Given the description of an element on the screen output the (x, y) to click on. 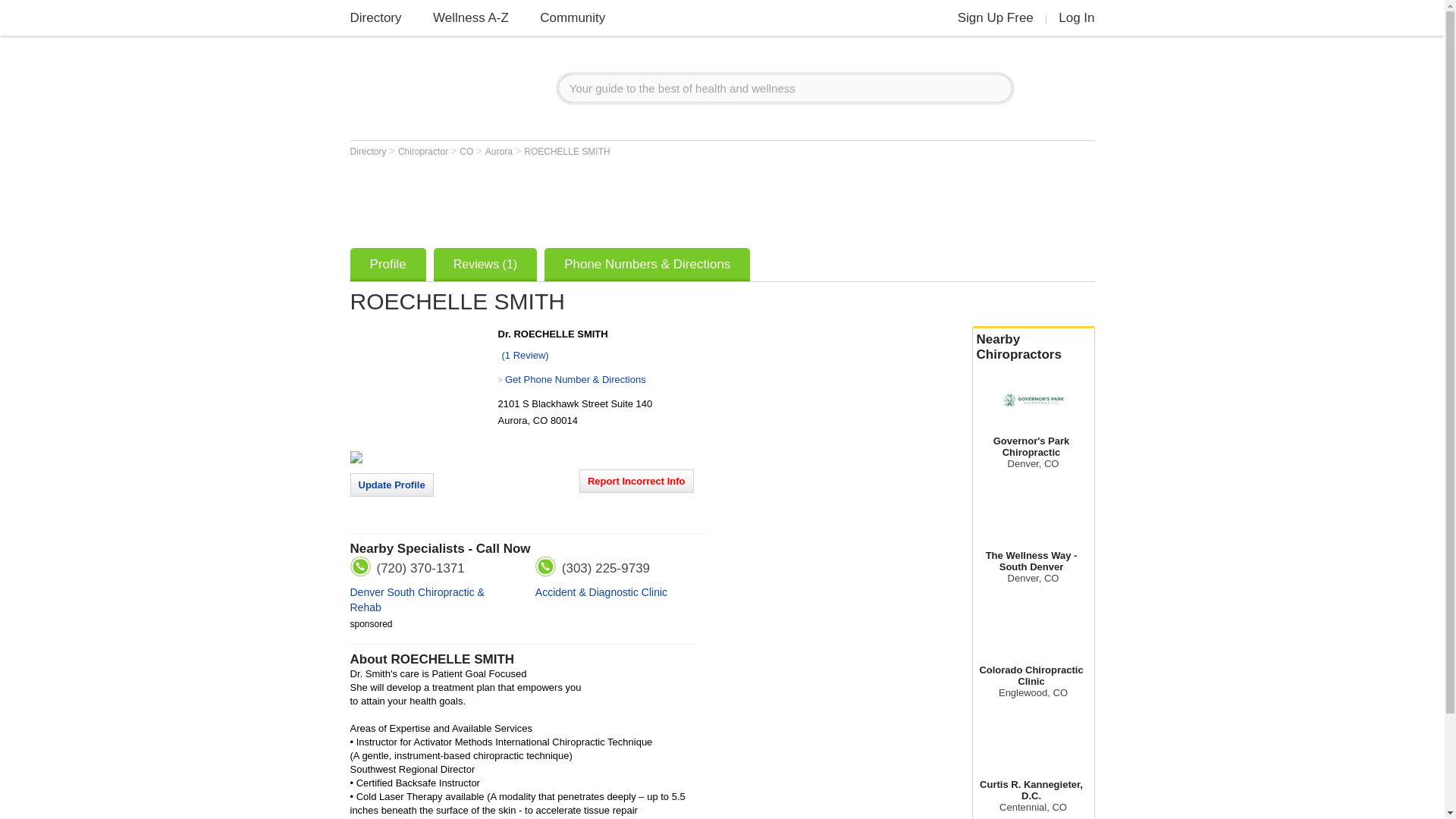
Directory (375, 17)
Wellness Directory (375, 17)
Your guide to the best of health and wellness (785, 88)
Your guide to the best of health and wellness (785, 88)
